Given the description of an element on the screen output the (x, y) to click on. 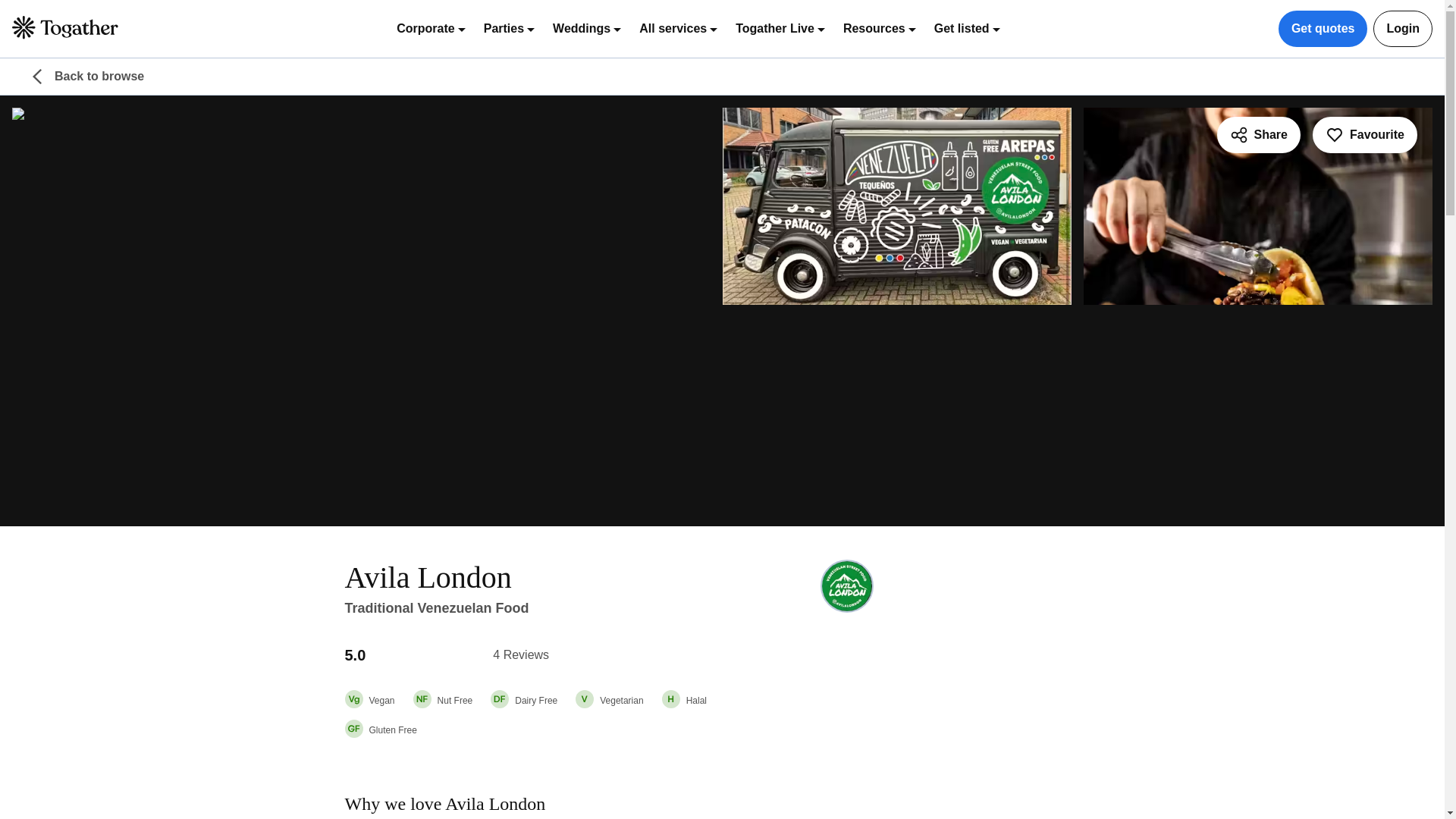
Parties (508, 28)
Corporate (429, 28)
